Given the description of an element on the screen output the (x, y) to click on. 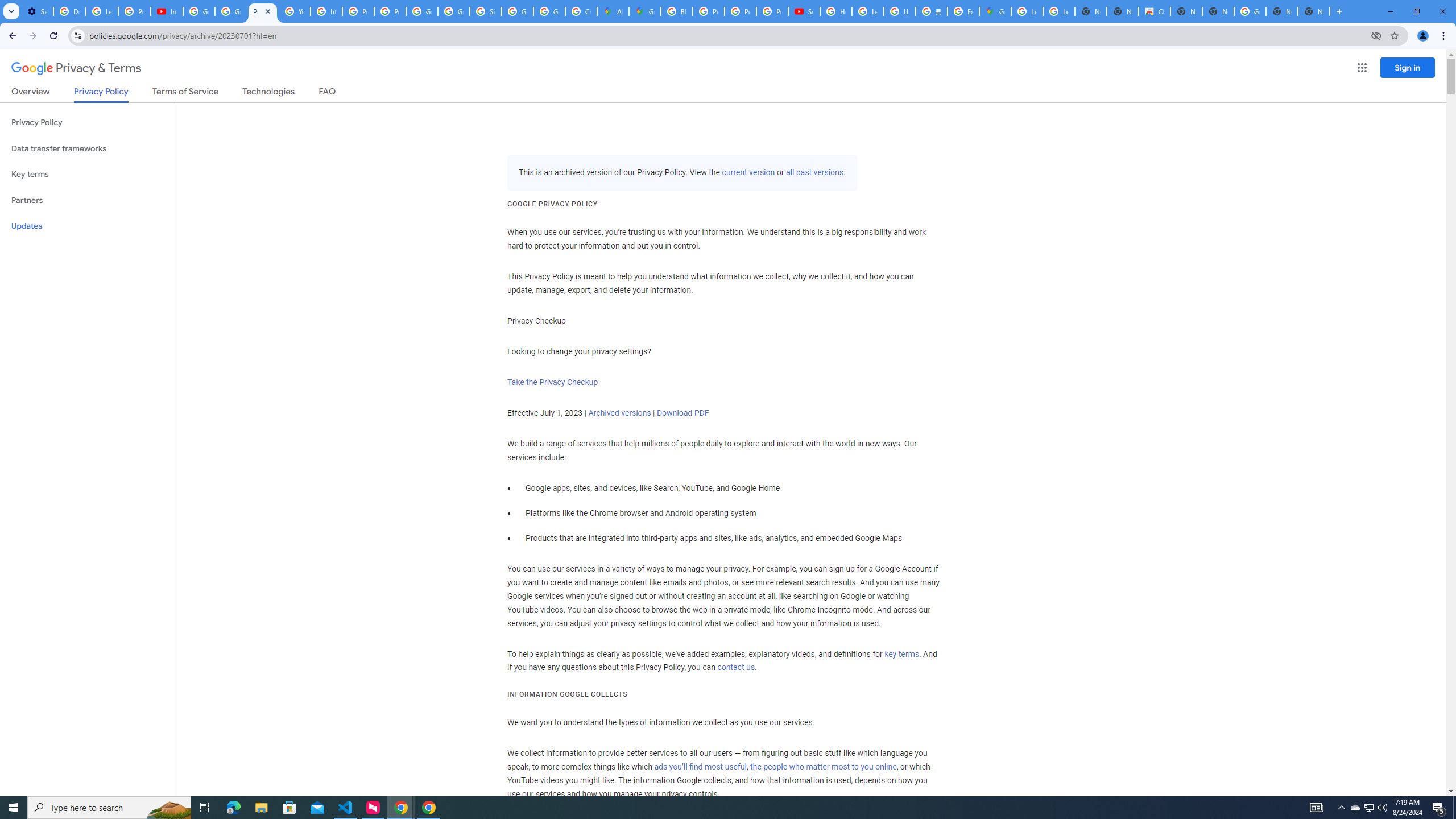
Google Images (1249, 11)
Privacy Help Center - Policies Help (358, 11)
Delete photos & videos - Computer - Google Photos Help (69, 11)
https://scholar.google.com/ (326, 11)
Blogger Policies and Guidelines - Transparency Center (676, 11)
Create your Google Account (581, 11)
